Given the description of an element on the screen output the (x, y) to click on. 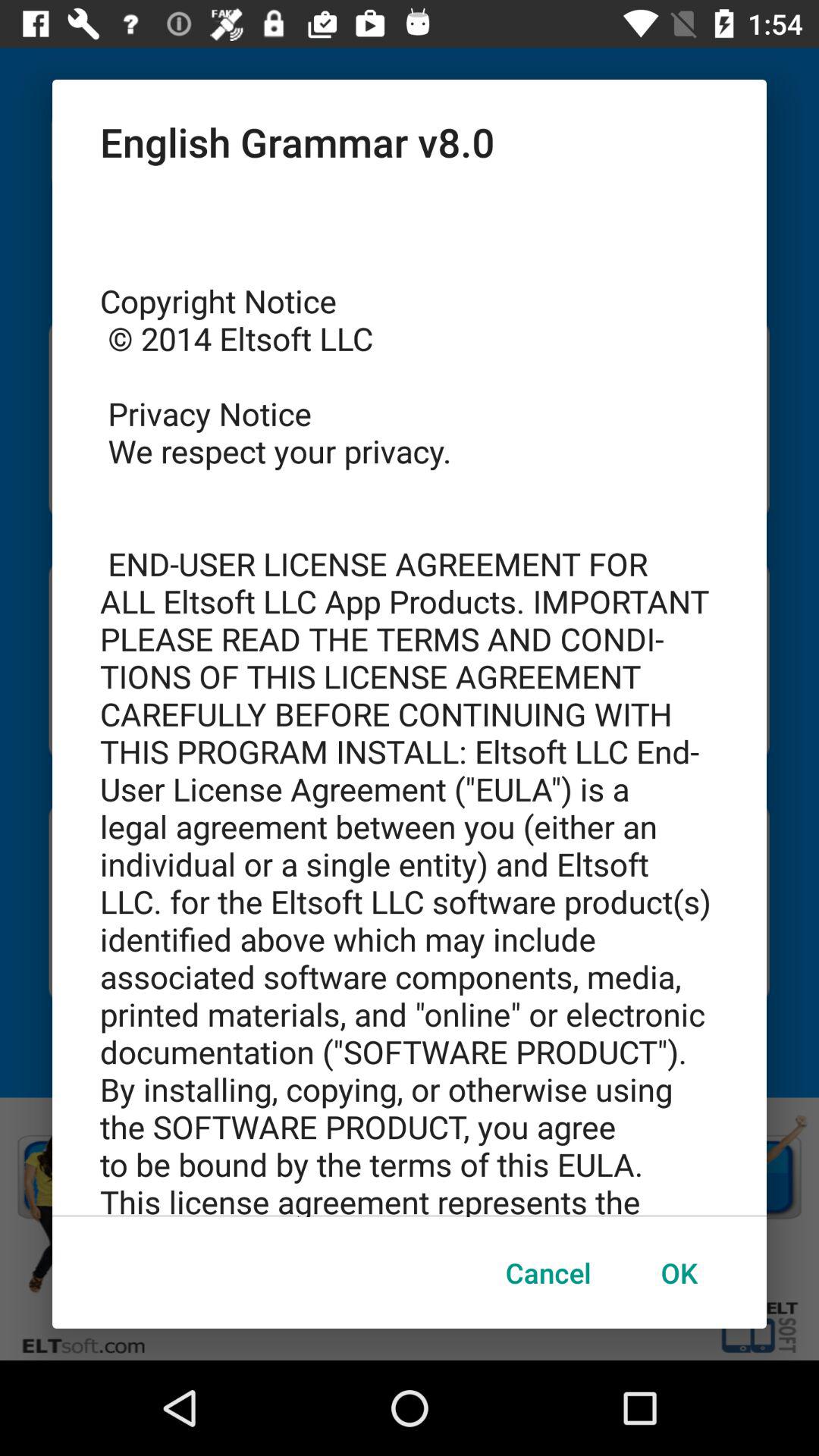
turn off the ok button (678, 1272)
